Given the description of an element on the screen output the (x, y) to click on. 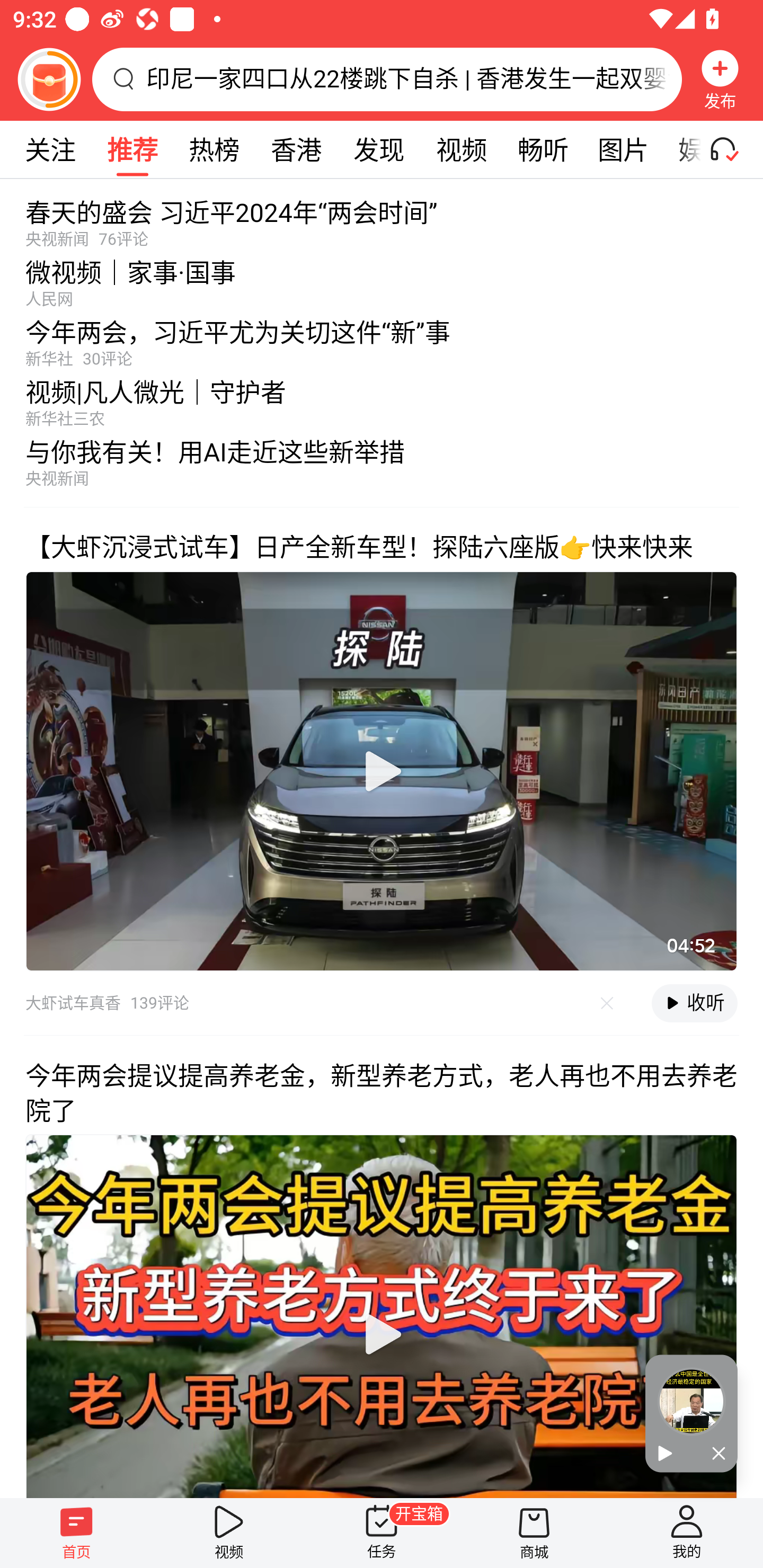
阅读赚金币 (48, 79)
发布 发布，按钮 (720, 78)
关注 (50, 149)
推荐 (132, 149)
热榜 (213, 149)
香港 (295, 149)
发现 (378, 149)
视频 (461, 149)
畅听 (542, 149)
图片 (623, 149)
听一听开关 (732, 149)
微视频｜家事·国事人民网 视频 微视频｜家事·国事 人民网 (381, 277)
视频|凡人微光｜守护者新华社三农 文章 视频|凡人微光｜守护者 新华社三农 (381, 398)
与你我有关！用AI走近这些新举措央视新闻 文章 与你我有关！用AI走近这些新举措 央视新闻 (381, 467)
播放视频 视频播放器，双击屏幕打开播放控制 (381, 771)
播放视频 (381, 771)
收听 (694, 1003)
不感兴趣 (607, 1003)
播放视频 视频播放器，双击屏幕打开播放控制 (381, 1315)
播放视频 (381, 1334)
当前进度 0% 播放 关闭 (691, 1413)
播放 (668, 1454)
关闭 (714, 1454)
首页 (76, 1532)
视频 (228, 1532)
任务 开宝箱 (381, 1532)
商城 (533, 1532)
我的 (686, 1532)
